Given the description of an element on the screen output the (x, y) to click on. 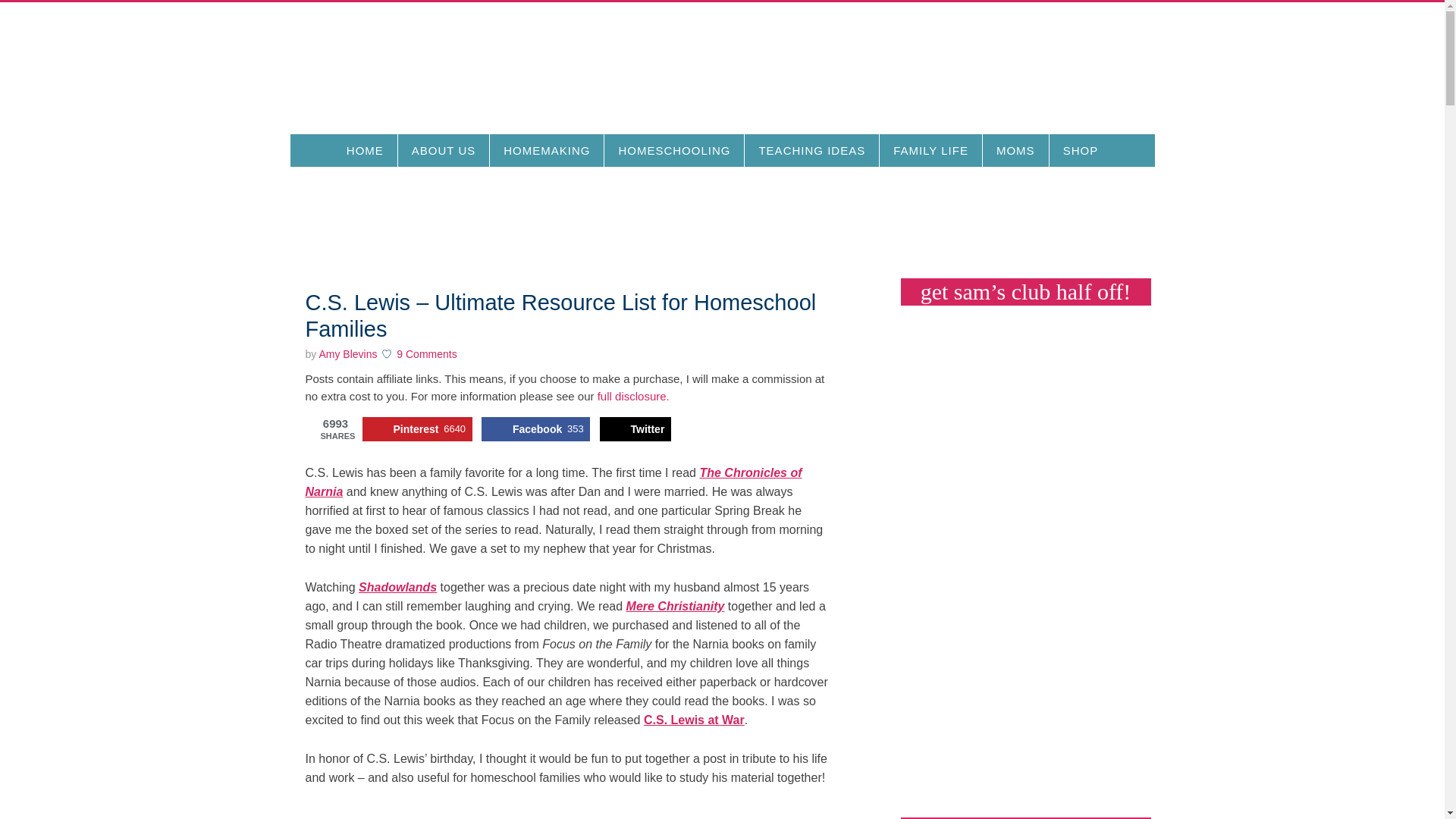
HOMESCHOOLING (674, 150)
Home (365, 150)
Share on Facebook (535, 428)
HOMEMAKING (546, 150)
HOME (365, 150)
TEACHING IDEAS (811, 150)
Share on X (634, 428)
FAMILY LIFE (930, 150)
ABOUT US (443, 150)
Save to Pinterest (416, 428)
